Given the description of an element on the screen output the (x, y) to click on. 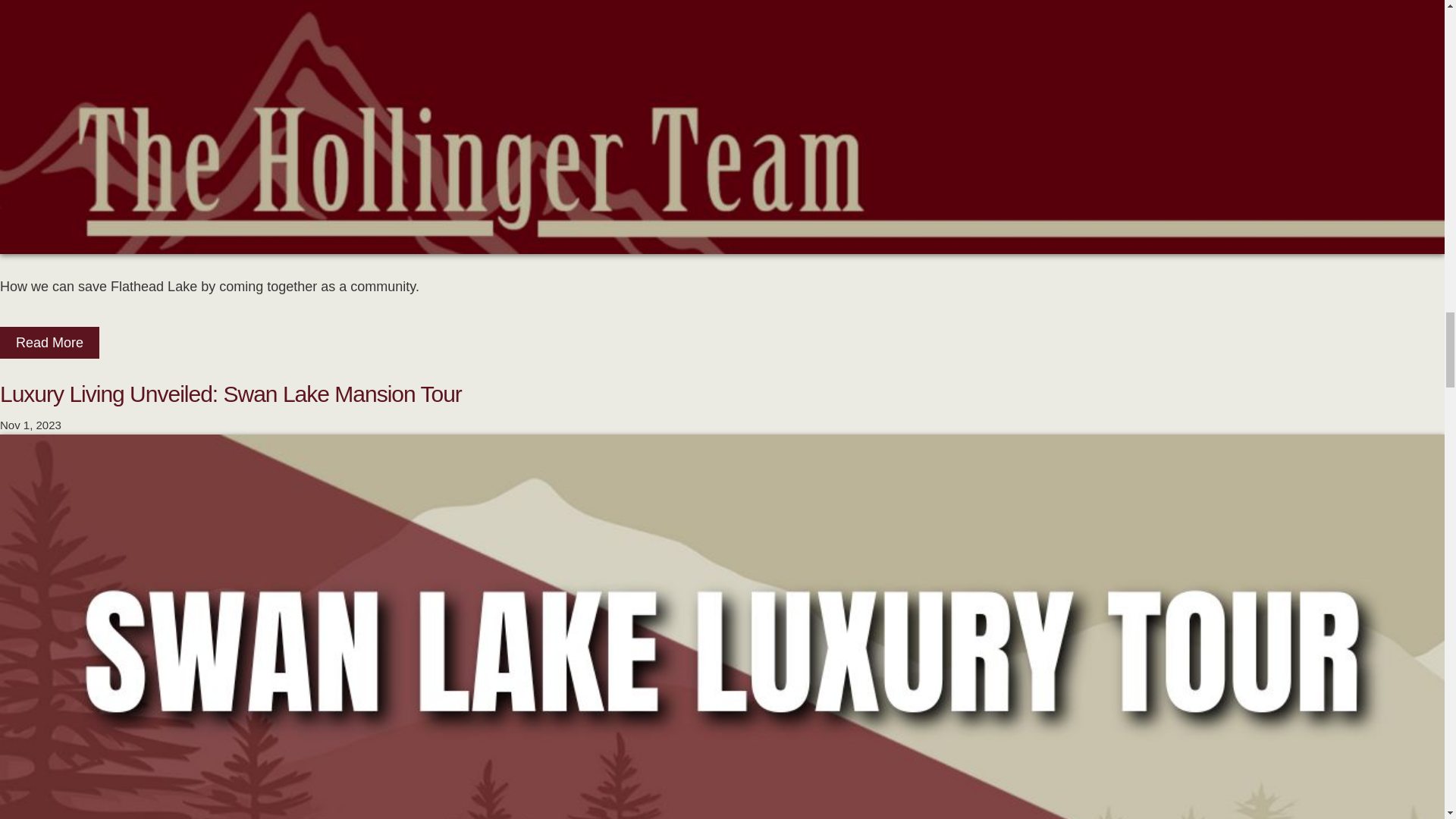
Read More (49, 343)
Luxury Living Unveiled: Swan Lake Mansion Tour (230, 394)
